Given the description of an element on the screen output the (x, y) to click on. 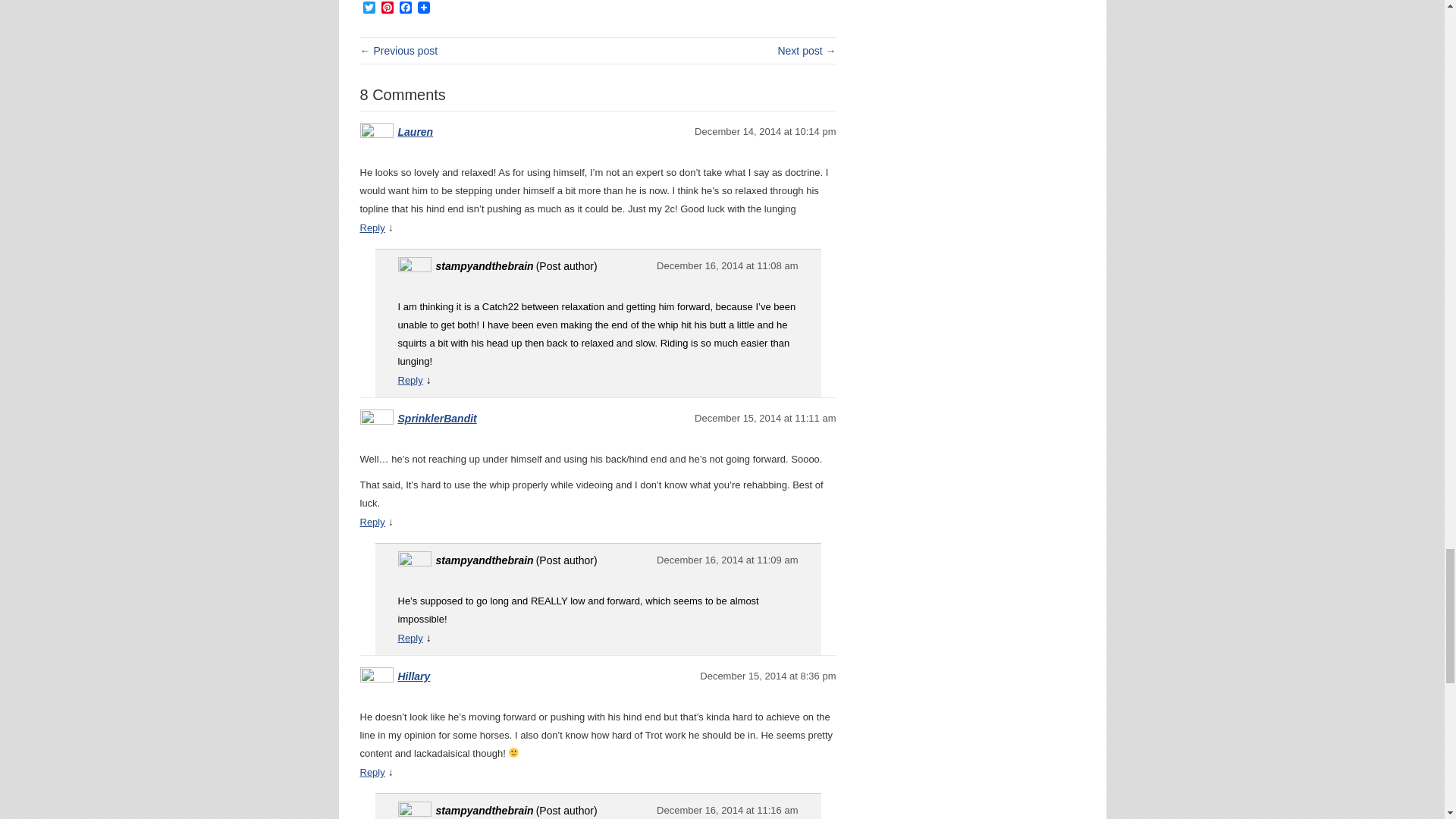
Twitter (368, 8)
Facebook (404, 8)
Twitter (368, 8)
Lauren (414, 132)
In other pony news (806, 50)
Pinterest (386, 8)
Wordless Wednesday - Posing with P (398, 50)
Reply (371, 521)
Reply (371, 227)
Reply (409, 637)
SprinklerBandit (436, 418)
Pinterest (386, 8)
Hillary (413, 676)
Facebook (404, 8)
Reply (409, 379)
